Given the description of an element on the screen output the (x, y) to click on. 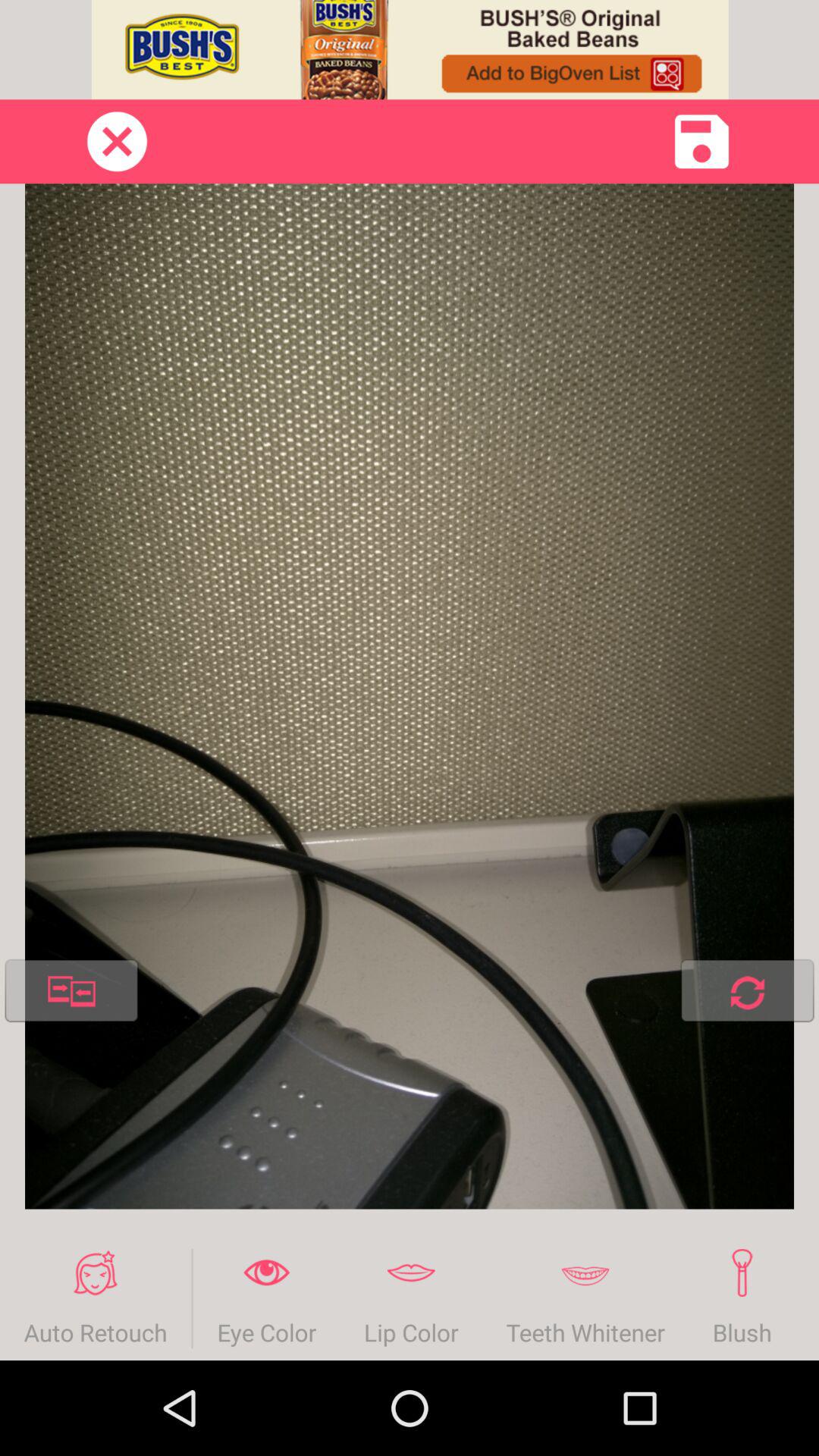
scroll to reset (747, 994)
